Given the description of an element on the screen output the (x, y) to click on. 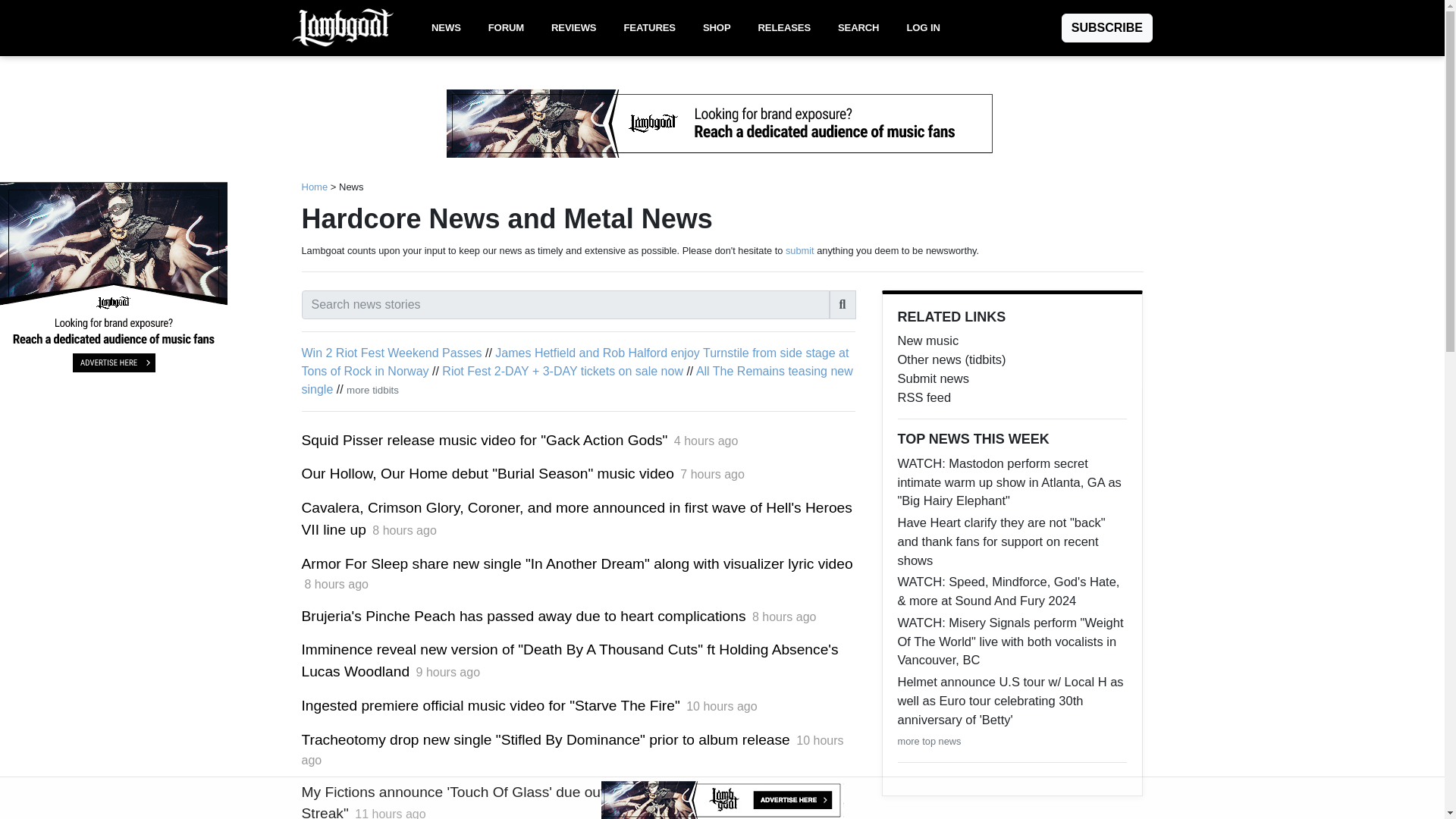
All The Remains teasing new single (577, 379)
Ingested premiere official music video for "Starve The Fire" (490, 705)
Our Hollow, Our Home debut "Burial Season" music video (487, 473)
LOG IN (921, 27)
SUBSCRIBE (1107, 27)
Squid Pisser release music video for "Gack Action Gods" (484, 439)
more tidbits (372, 389)
SHOP (716, 27)
NEWS (446, 27)
SEARCH (858, 27)
